Given the description of an element on the screen output the (x, y) to click on. 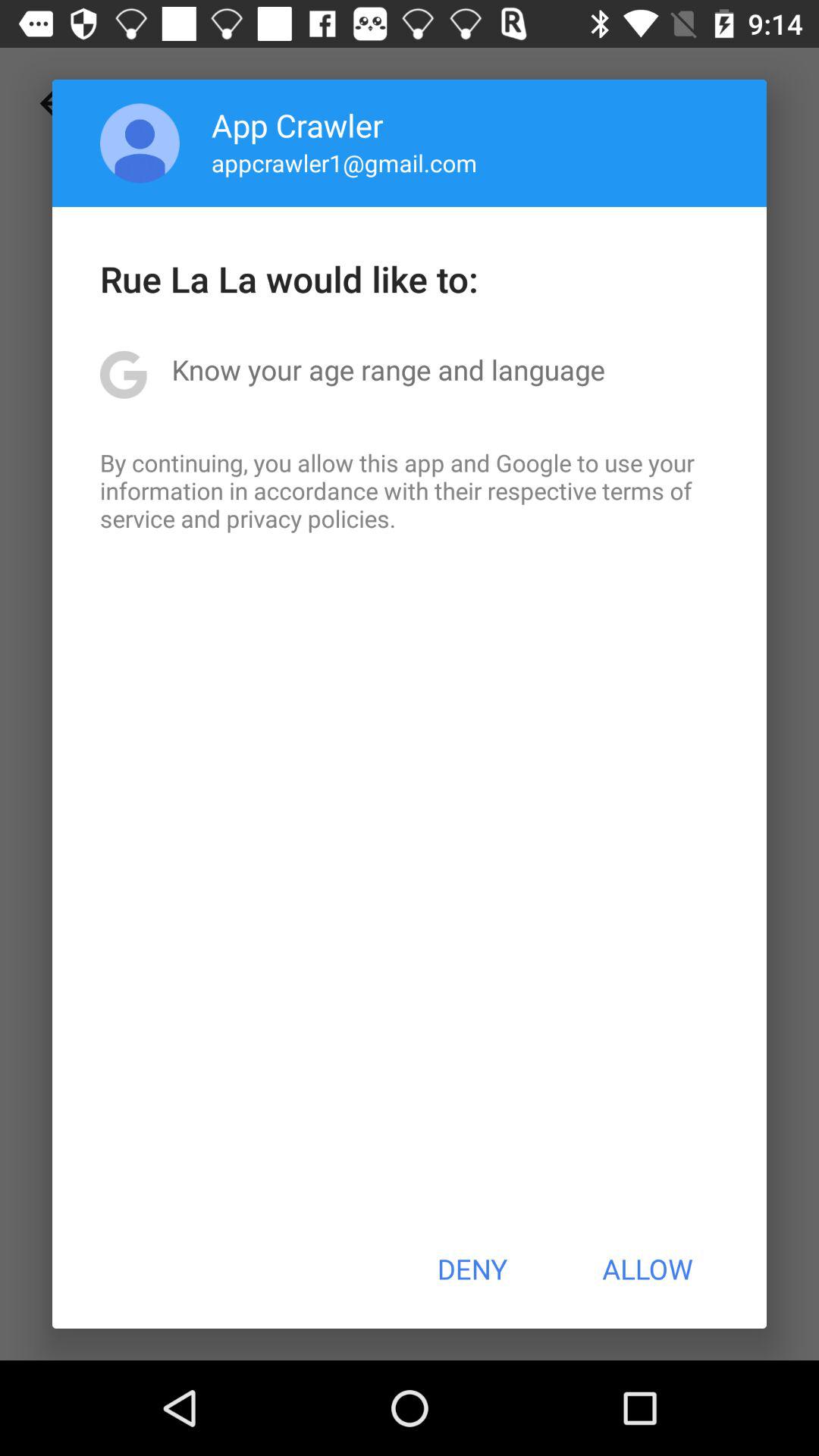
open the item to the left of the allow (471, 1268)
